Given the description of an element on the screen output the (x, y) to click on. 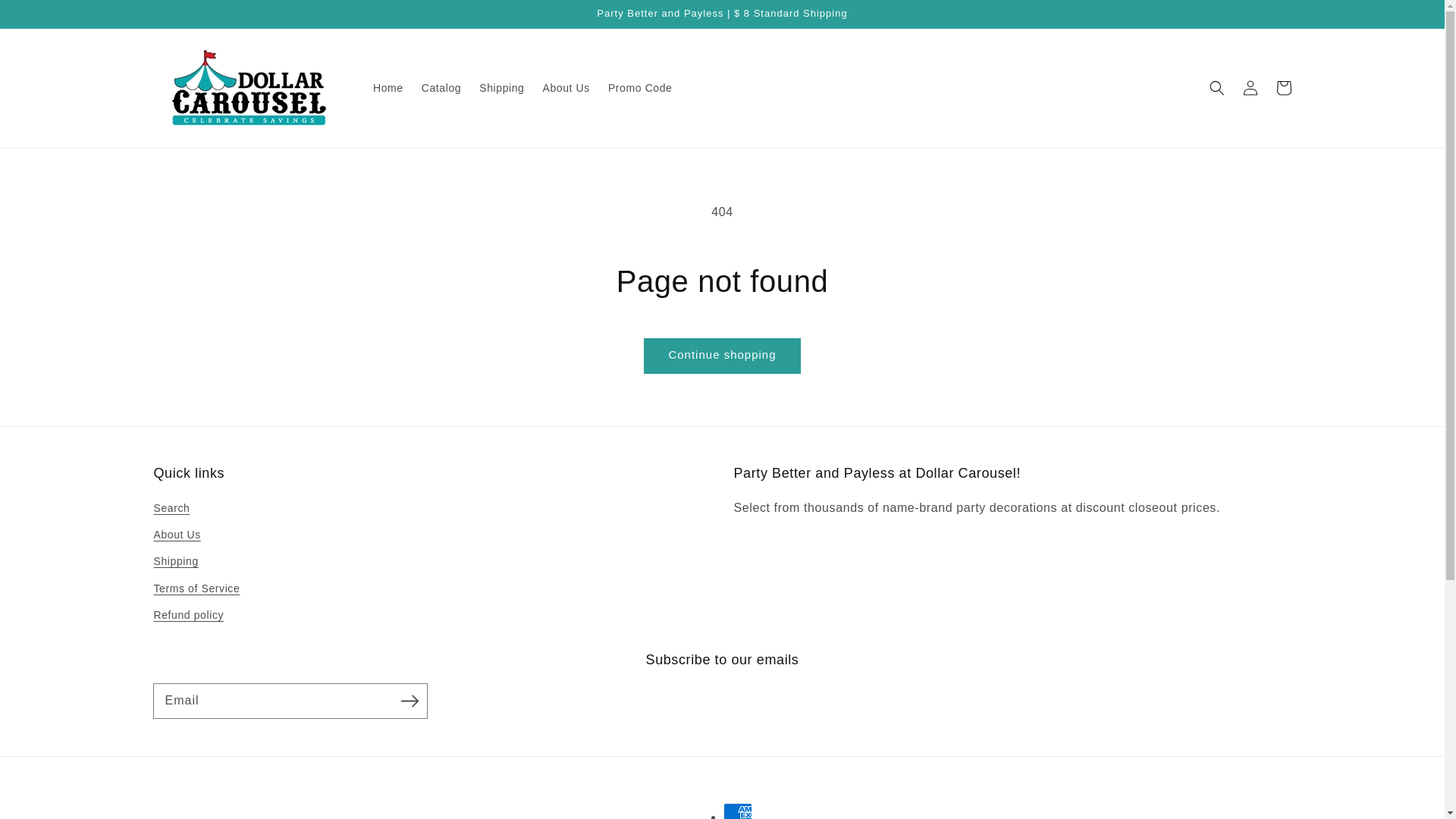
Shipping (175, 560)
Shipping (501, 88)
American Express (737, 811)
Catalog (441, 88)
Cart (1283, 87)
About Us (566, 88)
Terms of Service (196, 588)
Search (170, 509)
Promo Code (639, 88)
Refund policy (188, 614)
Skip to content (45, 16)
Continue shopping (722, 356)
Log in (1249, 87)
Home (388, 88)
About Us (176, 534)
